Given the description of an element on the screen output the (x, y) to click on. 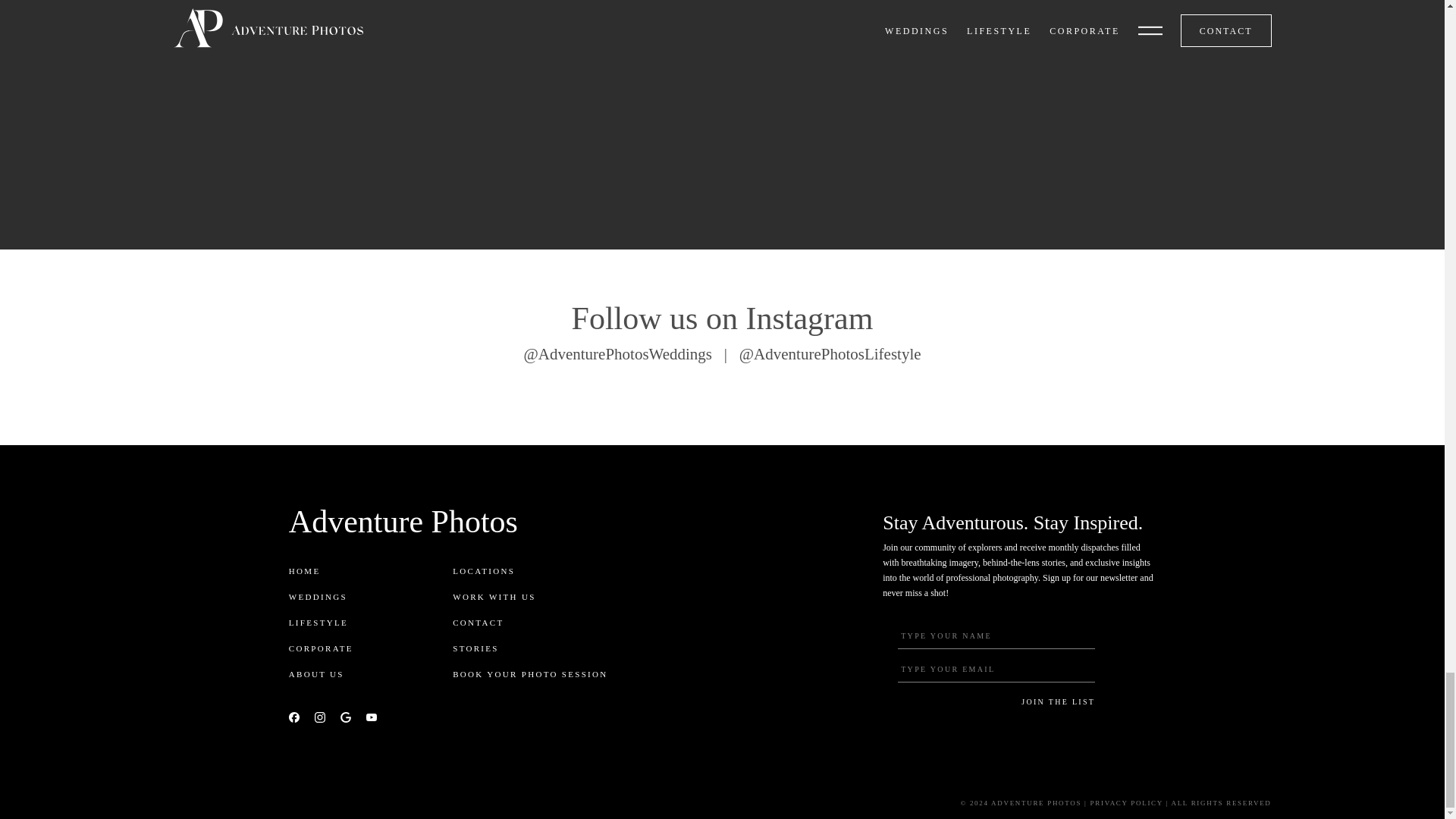
INSTAGRAM (319, 716)
FACEBOOK (293, 716)
GOOGLE (345, 716)
YOUTUBE (371, 716)
